Given the description of an element on the screen output the (x, y) to click on. 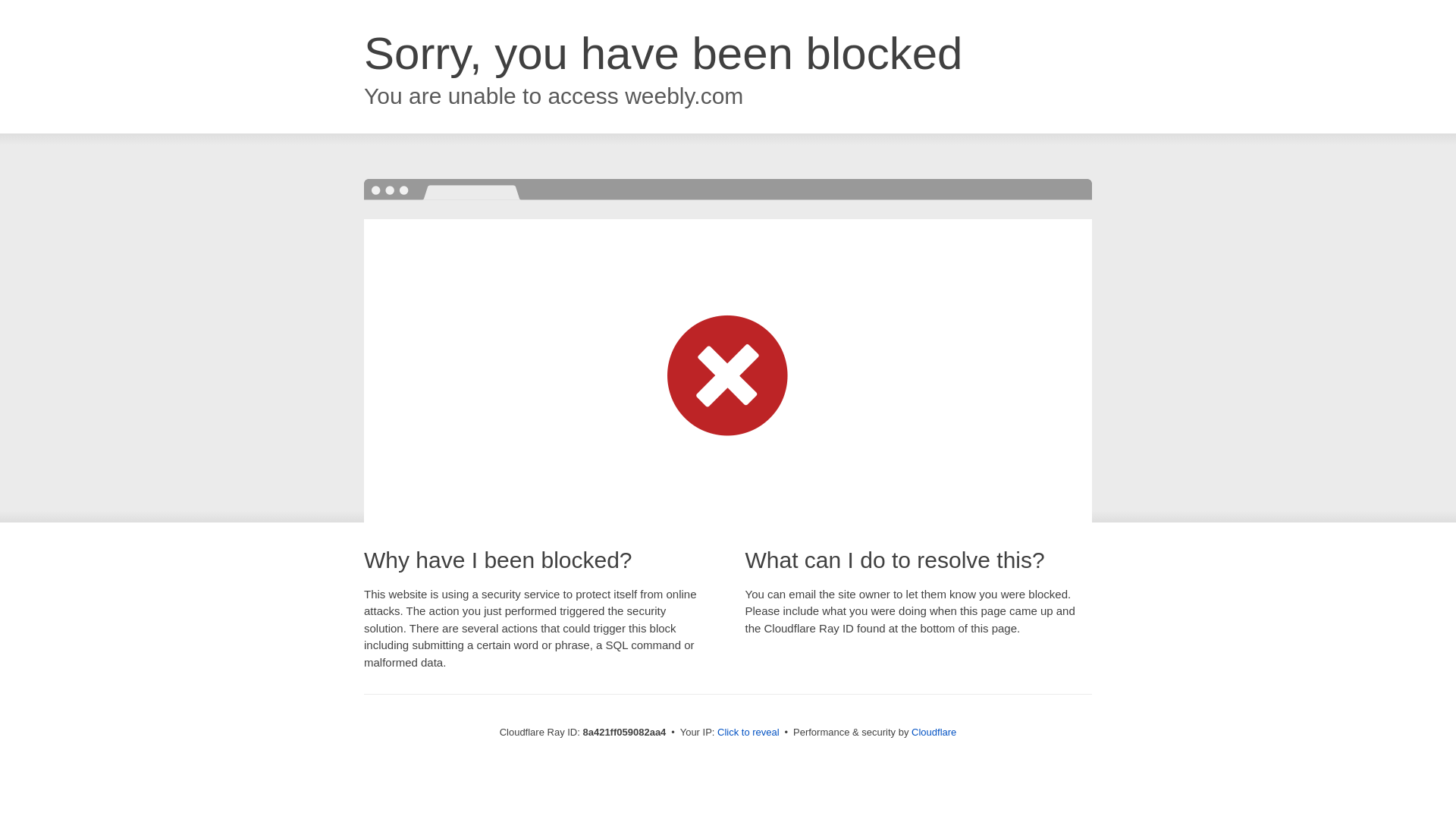
Click to reveal (747, 732)
Cloudflare (933, 731)
